Given the description of an element on the screen output the (x, y) to click on. 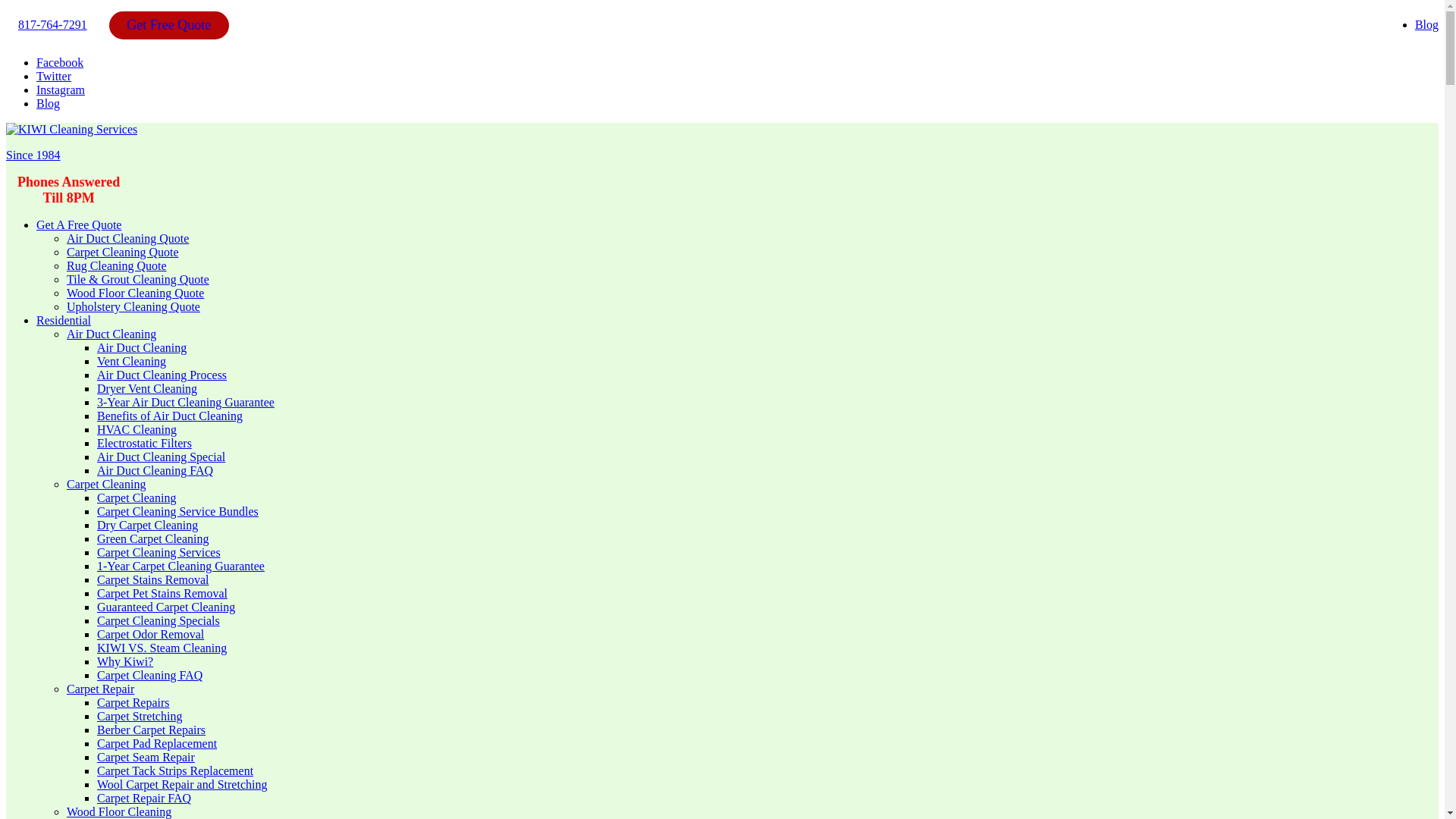
Instagram (60, 89)
Carpet Cleaning (136, 497)
KIWI Cleaning Services (70, 129)
Air Duct Cleaning Quote (127, 237)
817-764-7291 (52, 24)
Air Duct Cleaning Process (162, 374)
Green Carpet Cleaning (153, 538)
Get Free Quote (168, 23)
Carpet Cleaning Specials (158, 620)
Dryer Vent Cleaning (146, 388)
